Given the description of an element on the screen output the (x, y) to click on. 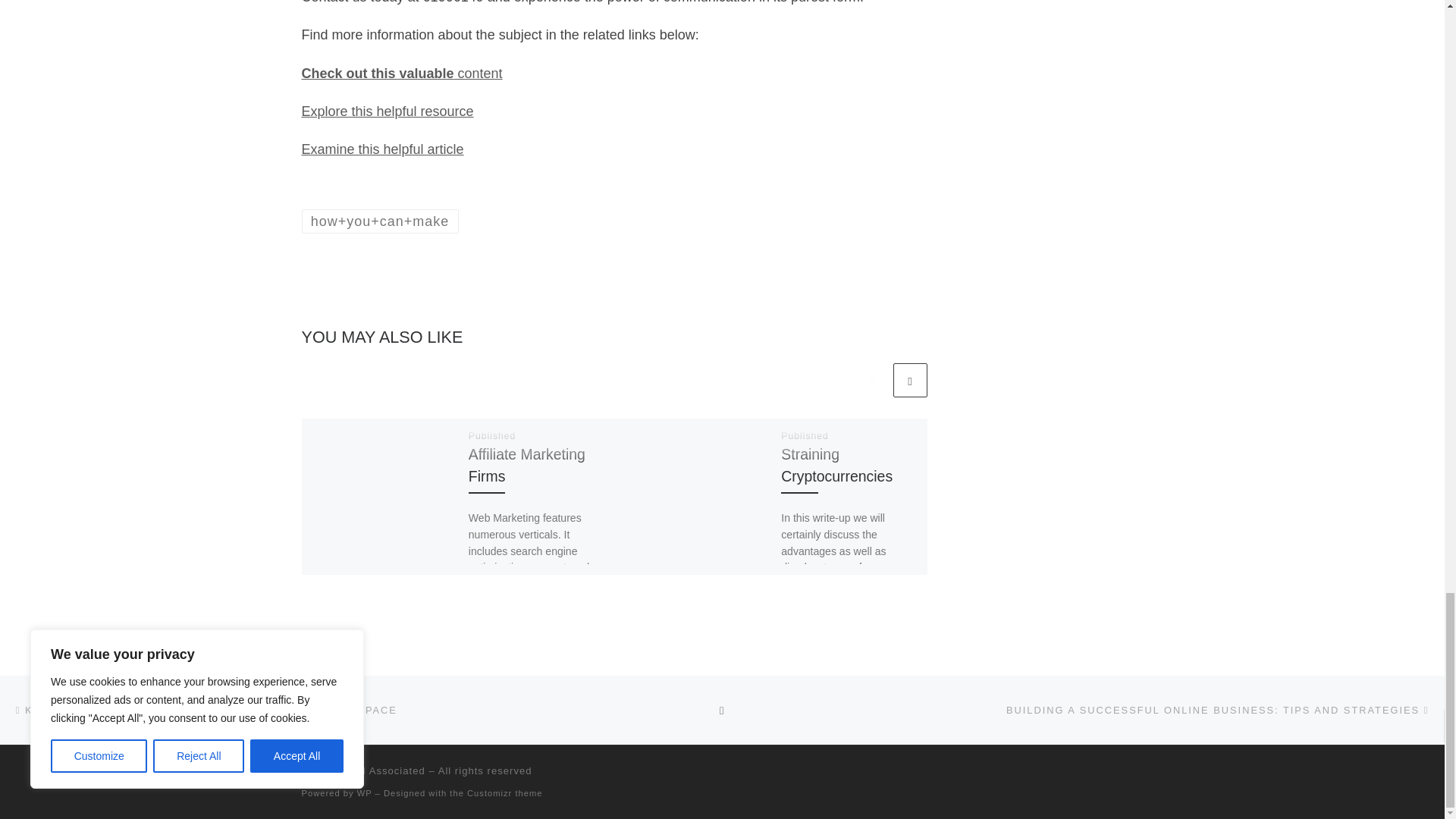
Previous related articles (872, 380)
Next related articles (910, 380)
Explore this helpful resource (387, 111)
CVM Associated (383, 770)
Check out this valuable content (401, 72)
Examine this helpful article (382, 149)
Powered by WordPress (364, 792)
Customizr theme (505, 792)
